Given the description of an element on the screen output the (x, y) to click on. 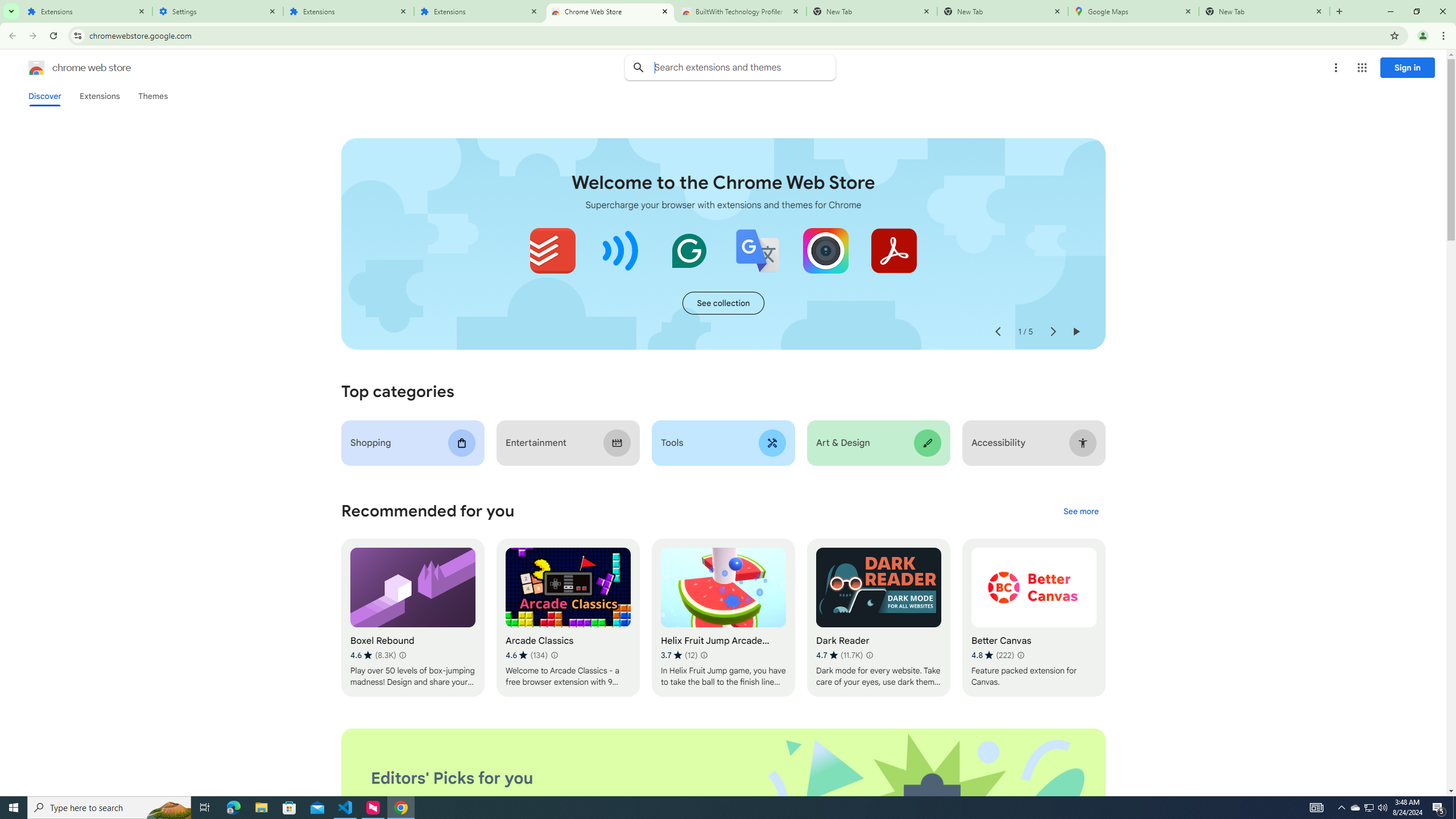
Chrome Web Store logo chrome web store (67, 67)
Accessibility (1033, 443)
Chrome Web Store logo (36, 67)
